Given the description of an element on the screen output the (x, y) to click on. 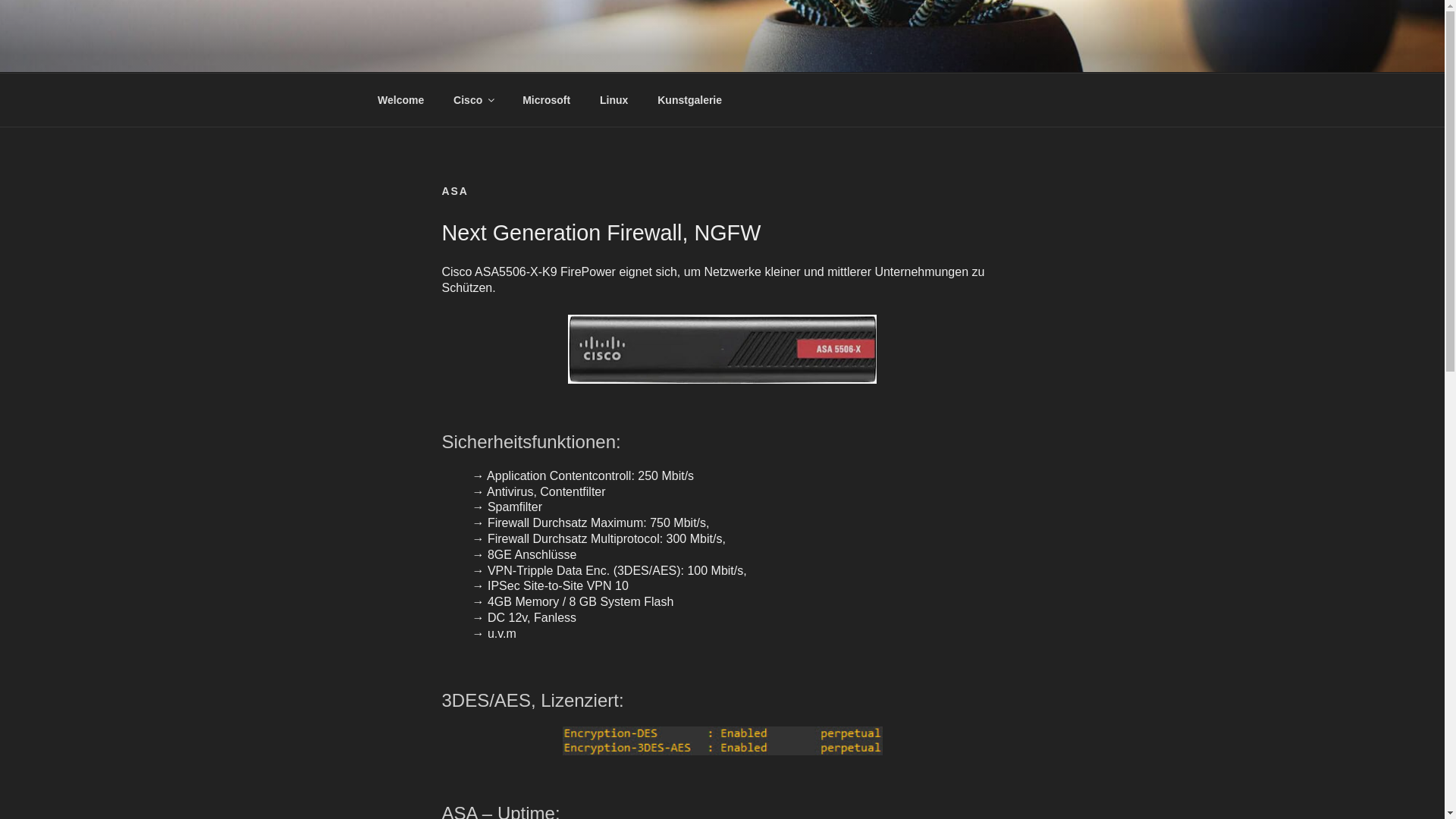
Cisco Element type: text (473, 100)
CALORO.CH Element type: text (471, 53)
Welcome Element type: text (400, 100)
Linux Element type: text (613, 100)
Kunstgalerie Element type: text (689, 100)
Microsoft Element type: text (546, 100)
